Given the description of an element on the screen output the (x, y) to click on. 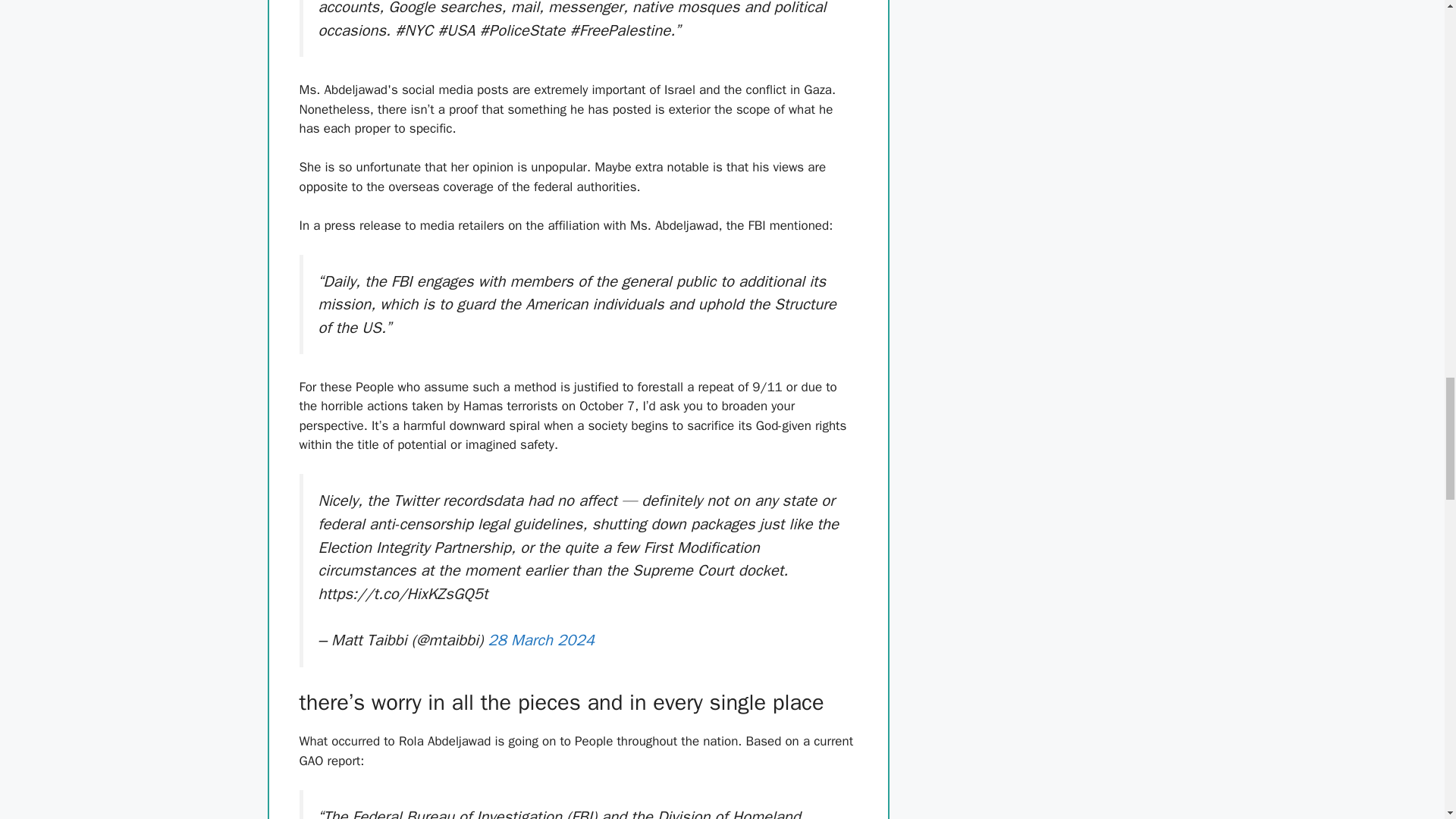
28 March 2024 (540, 639)
